Given the description of an element on the screen output the (x, y) to click on. 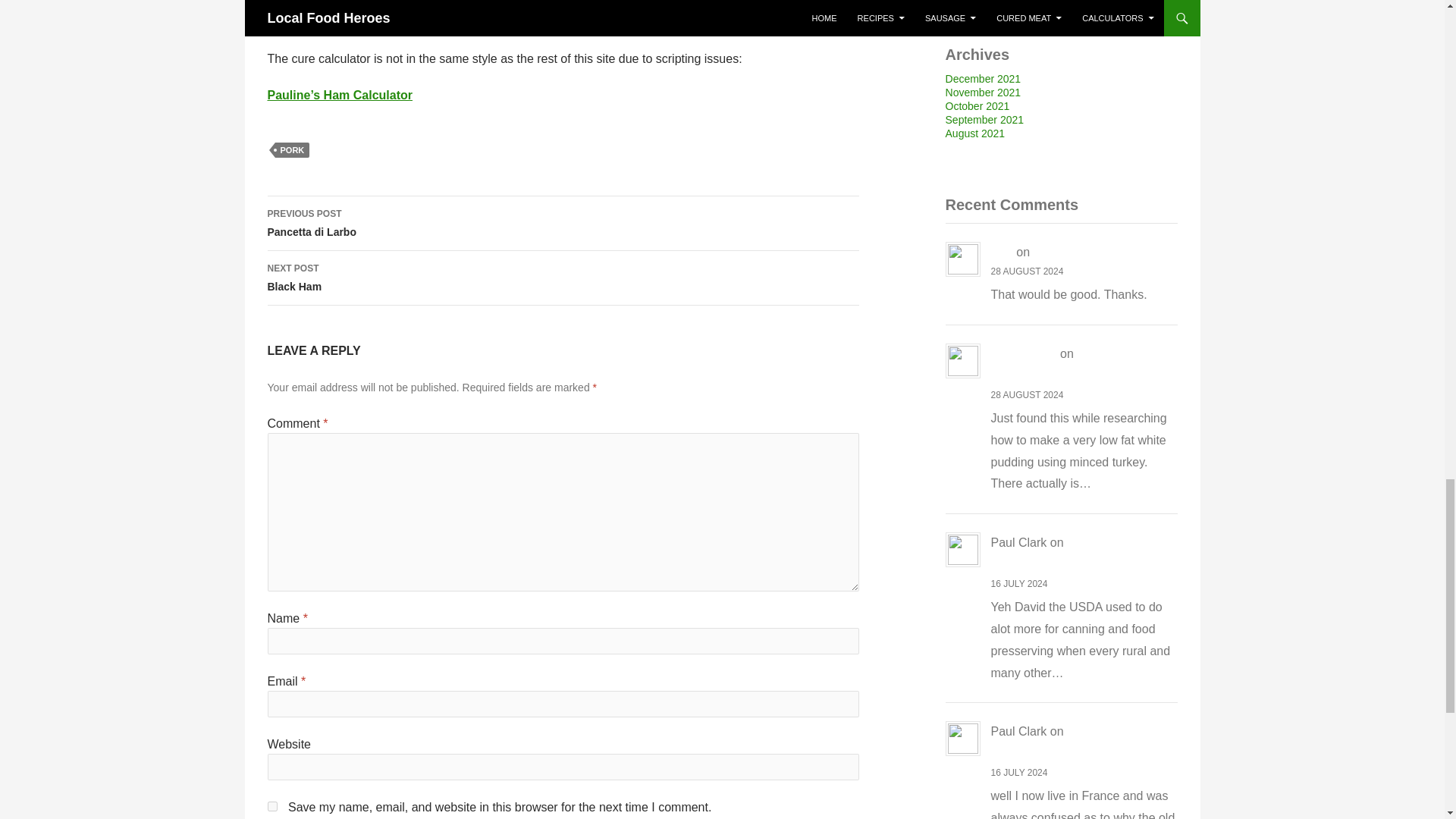
yes (271, 806)
PORK (291, 150)
